Given the description of an element on the screen output the (x, y) to click on. 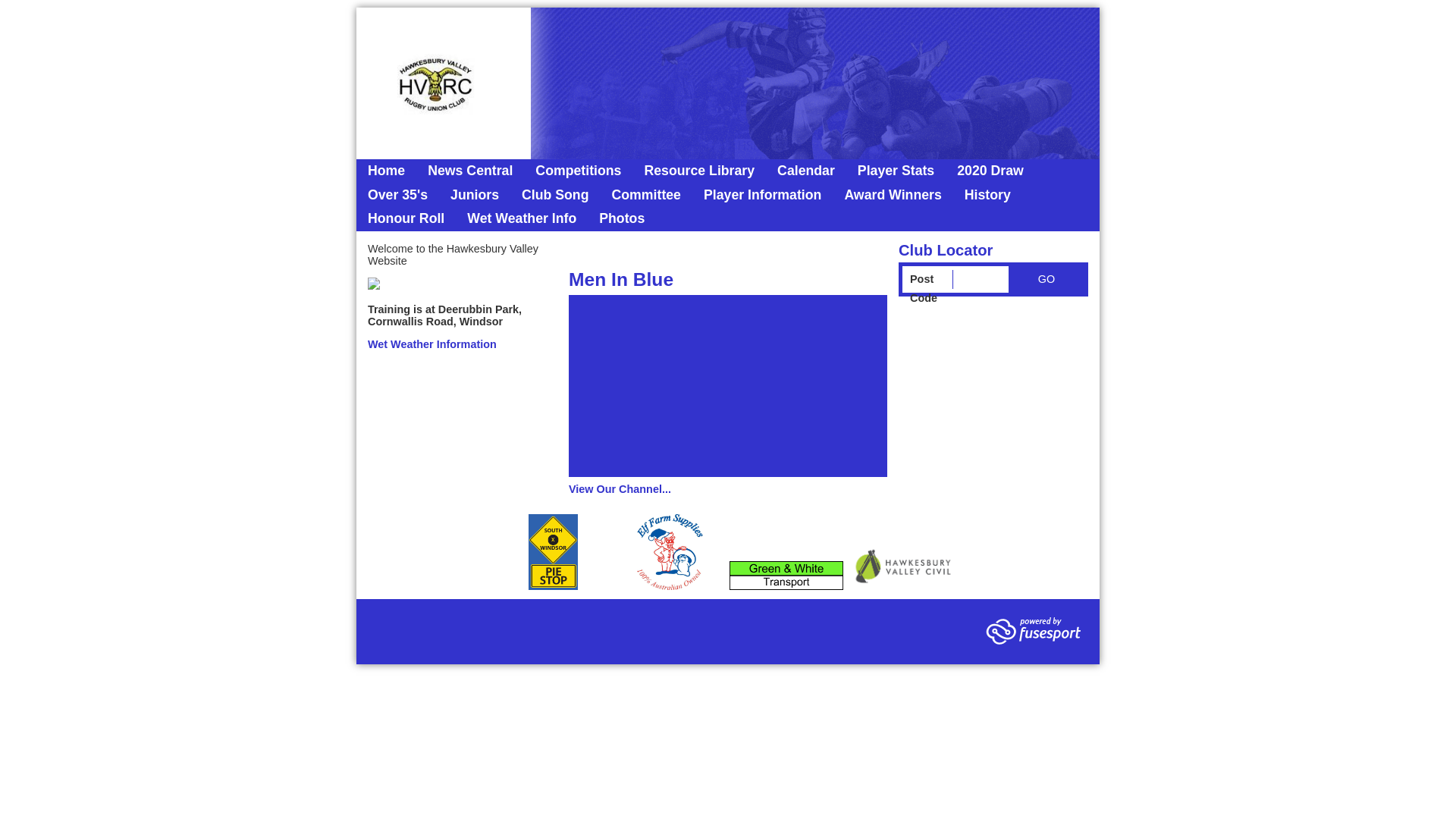
Over 35's Element type: text (397, 195)
Go Element type: text (1046, 279)
2020 Draw Element type: text (990, 171)
Wet Weather Information Element type: text (431, 344)
Player Information Element type: text (762, 195)
Home Element type: text (386, 171)
Competitions Element type: text (578, 171)
View Our Channel... Element type: text (619, 489)
Photos Element type: text (621, 219)
Award Winners Element type: text (892, 195)
Juniors Element type: text (474, 195)
Wet Weather Info Element type: text (521, 219)
Honour Roll Element type: text (405, 219)
News Central Element type: text (470, 171)
Committee Element type: text (645, 195)
Player Stats Element type: text (895, 171)
Resource Library Element type: text (698, 171)
History Element type: text (987, 195)
Club Song Element type: text (555, 195)
Calendar Element type: text (805, 171)
